Given the description of an element on the screen output the (x, y) to click on. 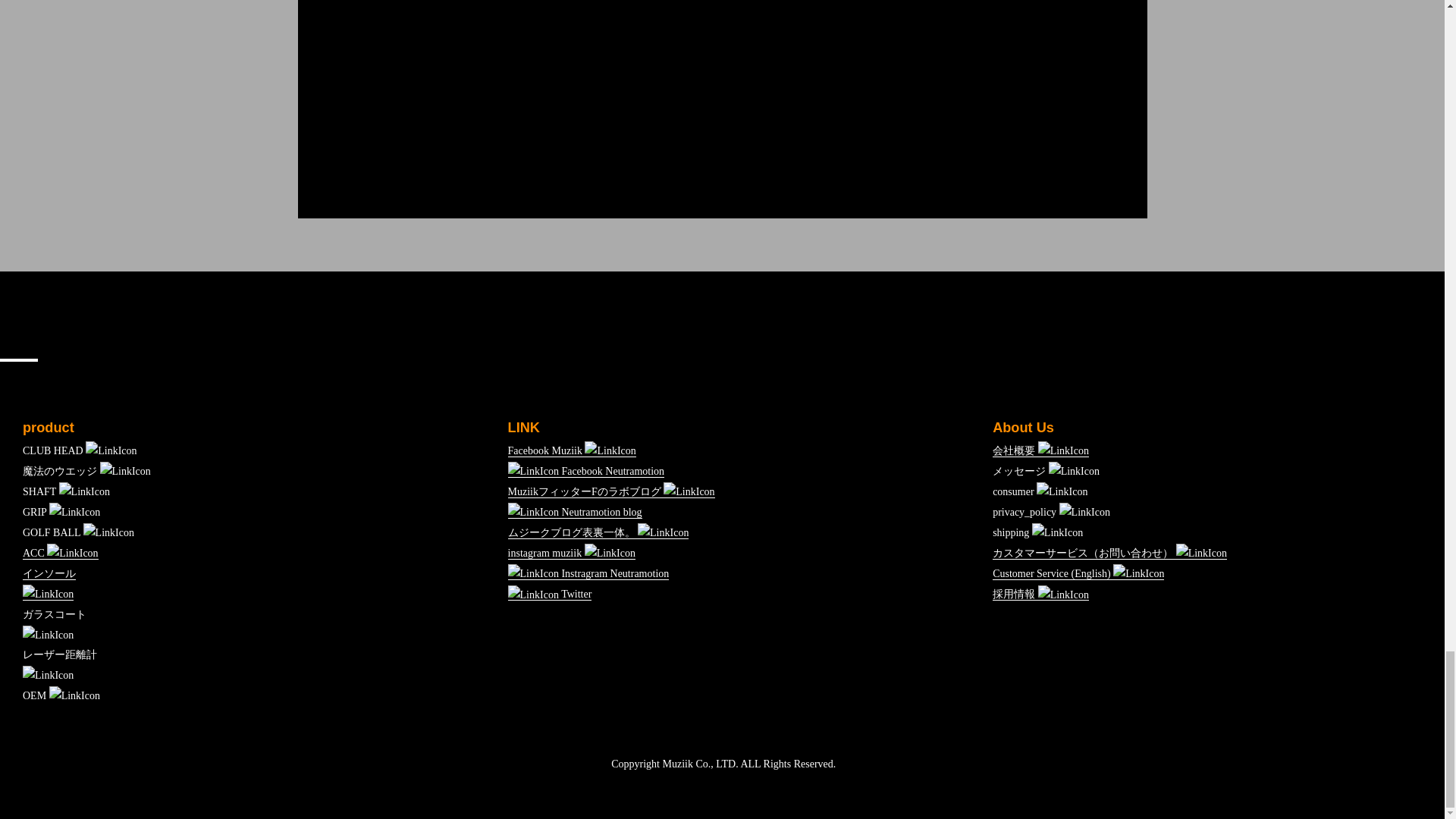
Instragram Neutramotion (588, 573)
Facebook Muziik (572, 451)
Twitter (550, 594)
instagram muziik (571, 553)
Neutramotion blog (575, 512)
ACC (61, 553)
Facebook Neutramotion (586, 471)
